Given the description of an element on the screen output the (x, y) to click on. 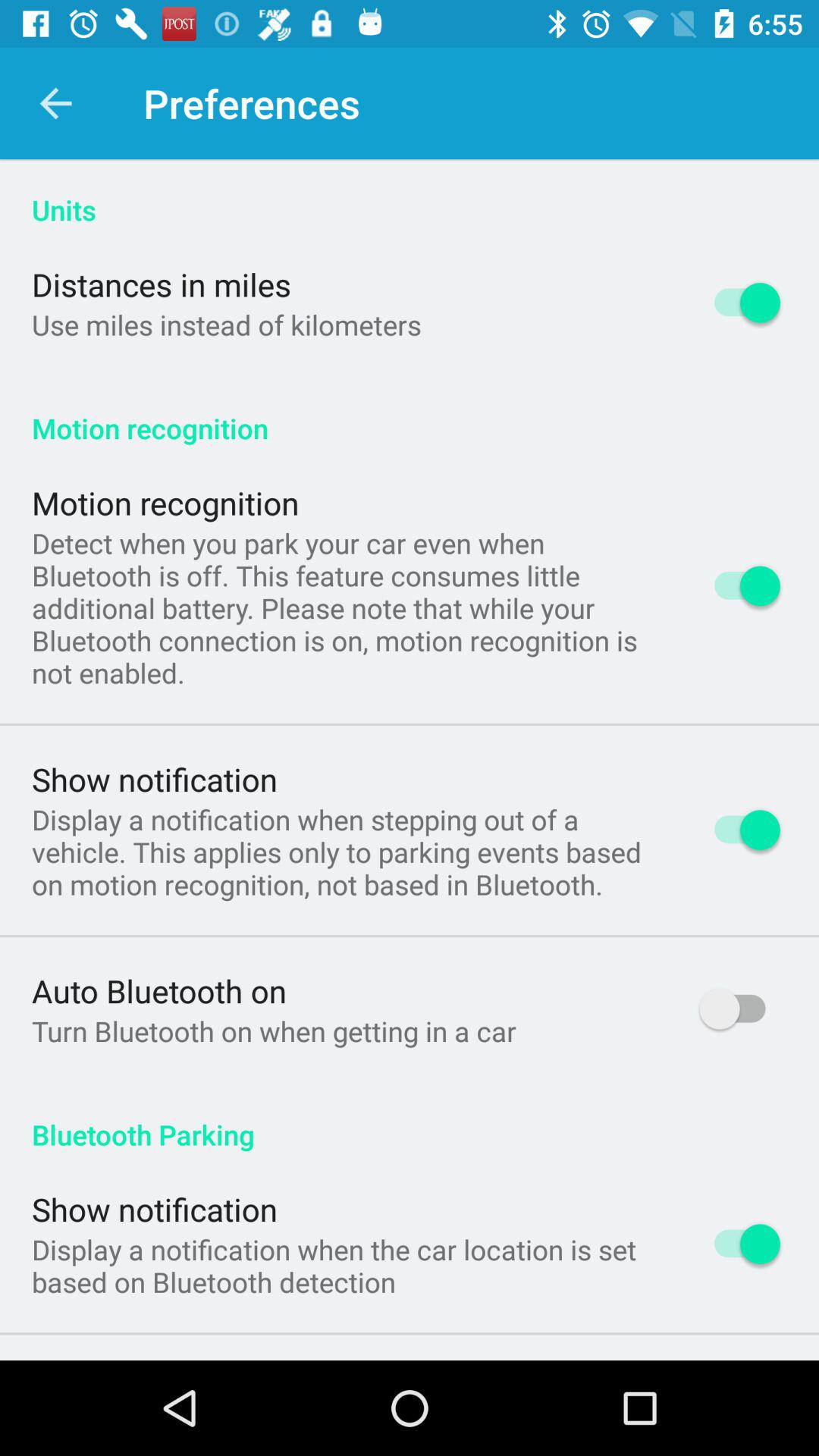
tap item above use miles instead icon (161, 283)
